Given the description of an element on the screen output the (x, y) to click on. 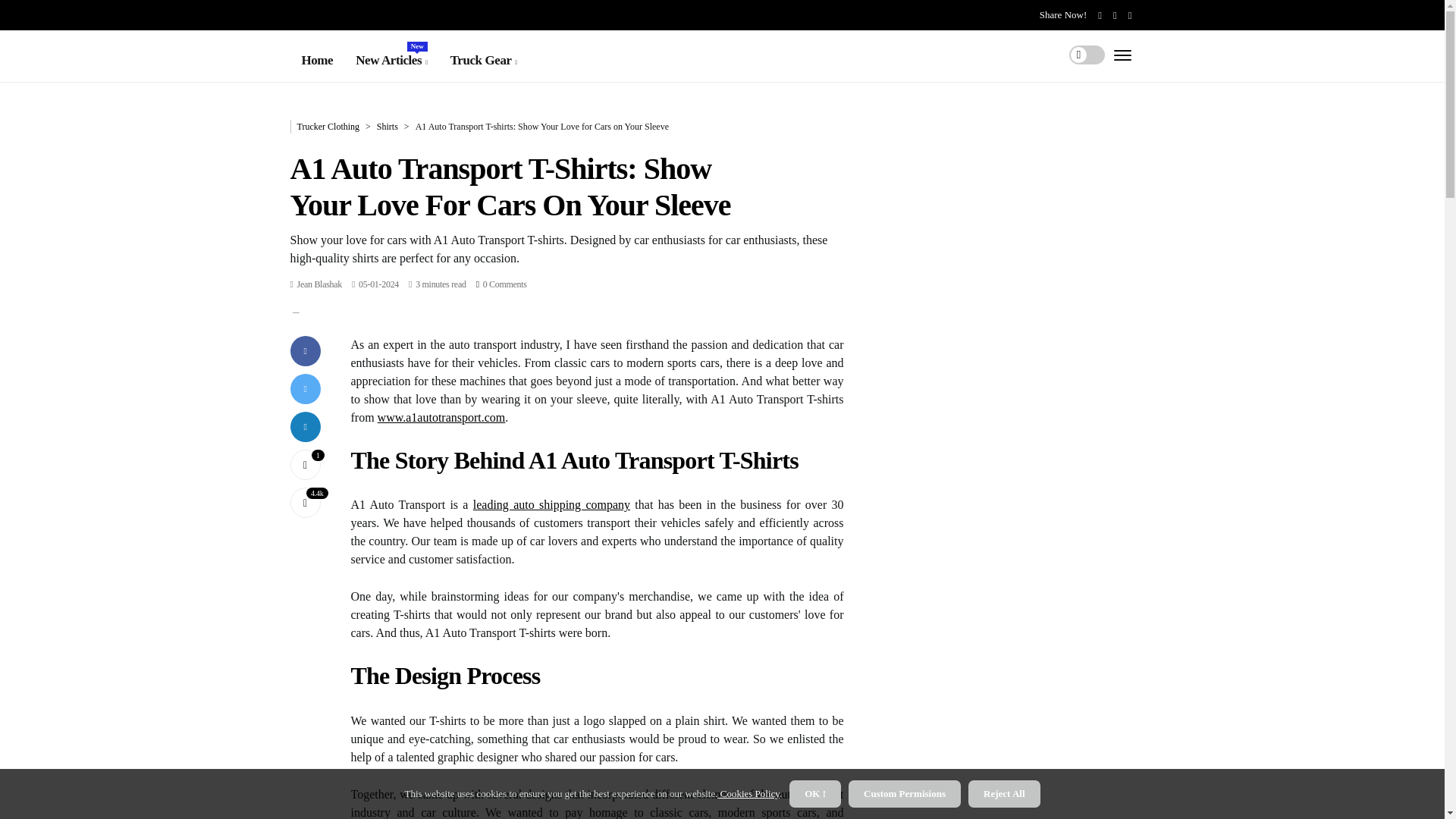
Truck Gear (482, 60)
Posts by Jean Blashak (319, 284)
Like (390, 60)
